Given the description of an element on the screen output the (x, y) to click on. 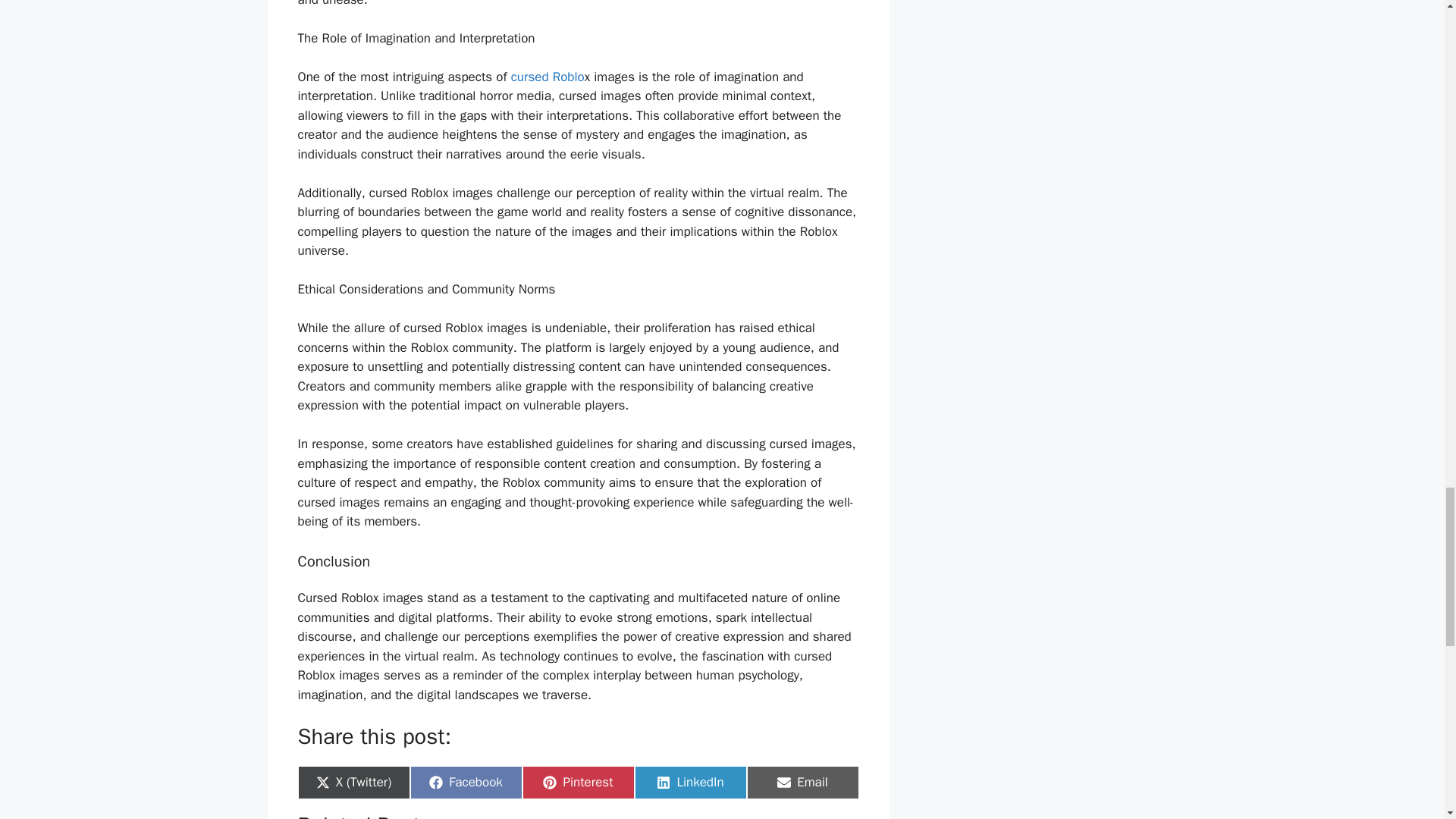
cursed Roblo (465, 782)
